Given the description of an element on the screen output the (x, y) to click on. 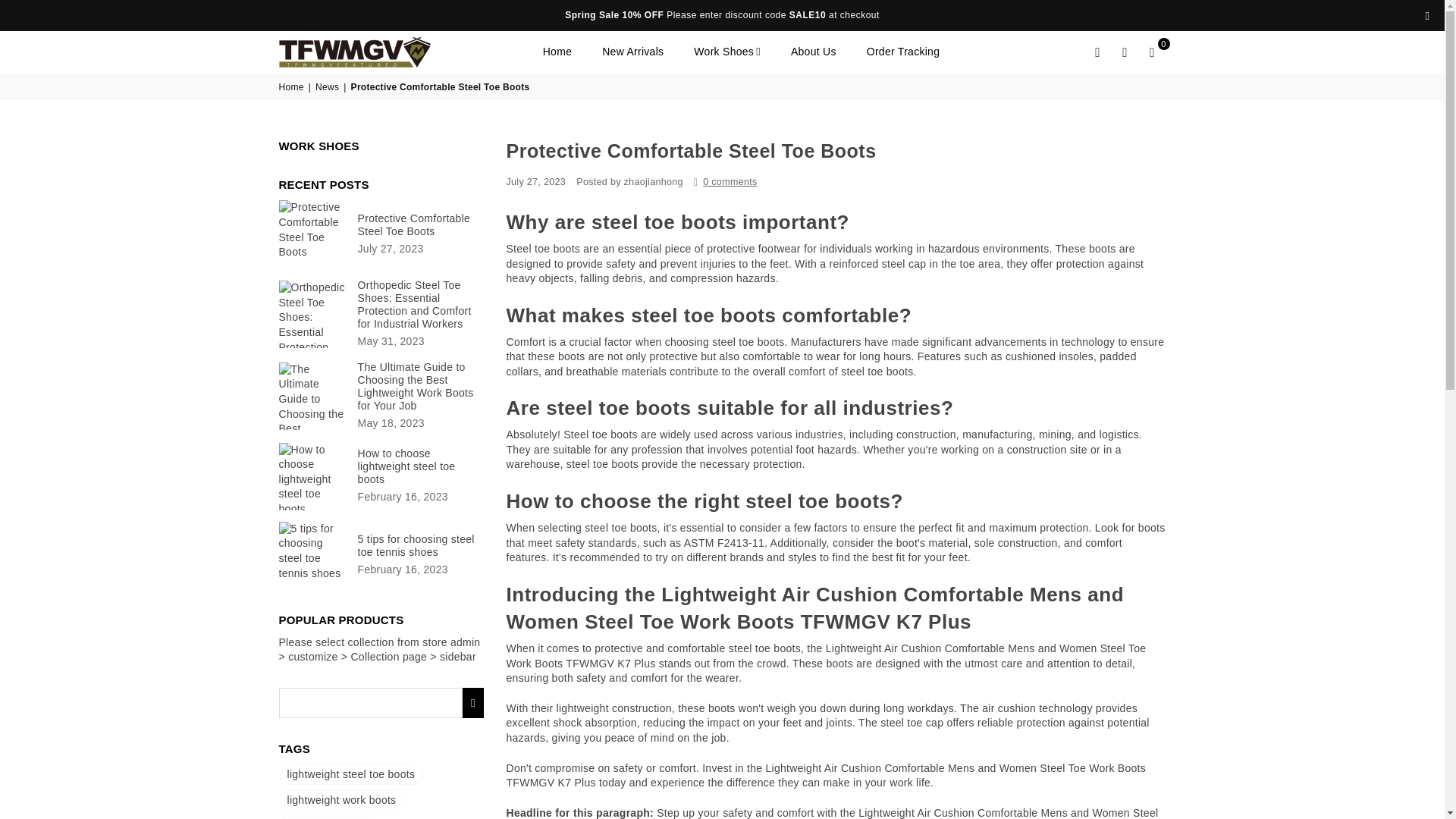
Protective Comfortable Steel Toe Boots (420, 225)
News (327, 87)
0 (1152, 51)
About Us (812, 51)
0 comments (730, 181)
Work Shoes (726, 51)
Show articles tagged mesh work boots (328, 817)
Cart (1152, 51)
Back to the home page (292, 87)
Home (557, 51)
